Given the description of an element on the screen output the (x, y) to click on. 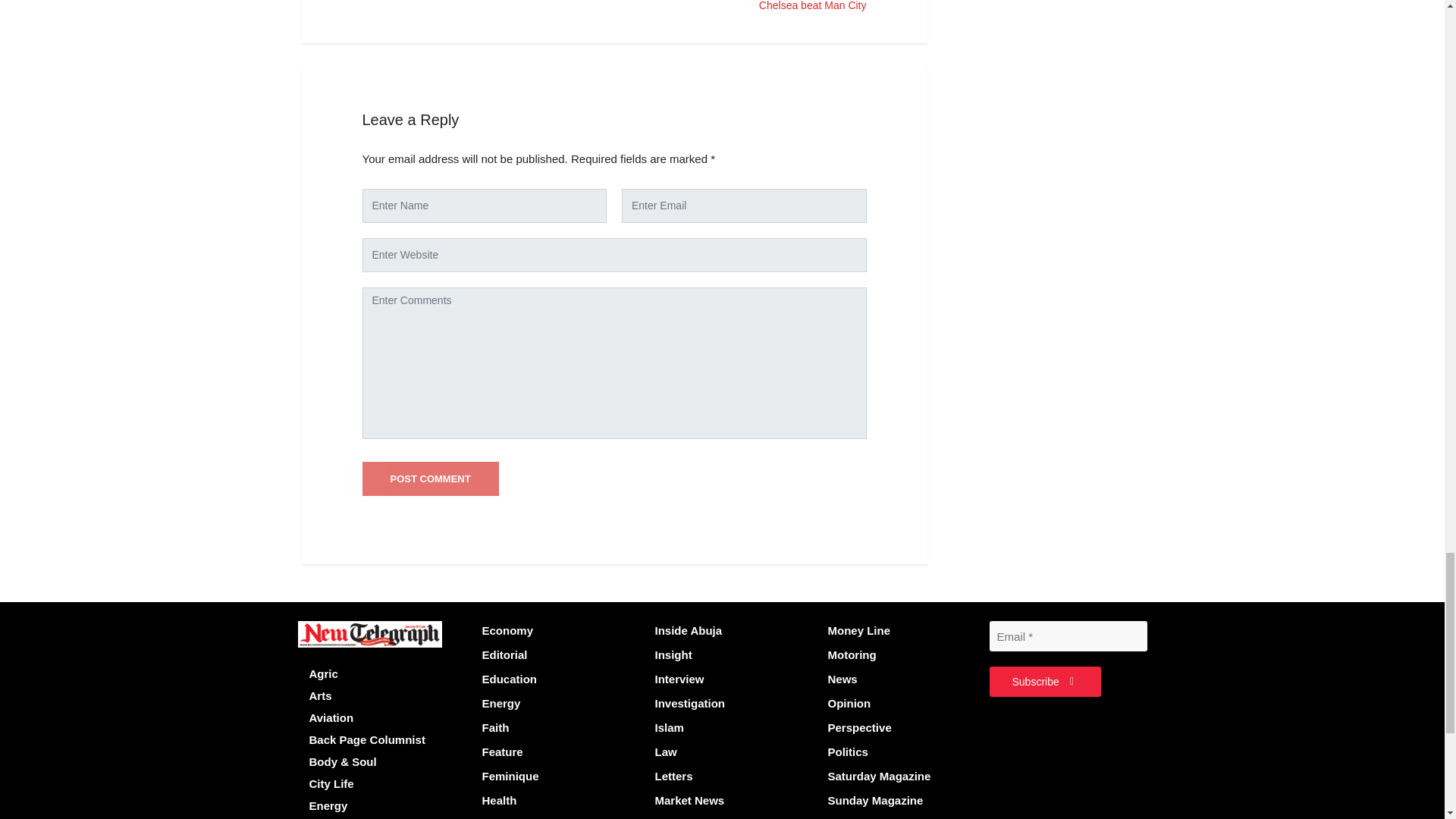
Post Comment (430, 478)
